Given the description of an element on the screen output the (x, y) to click on. 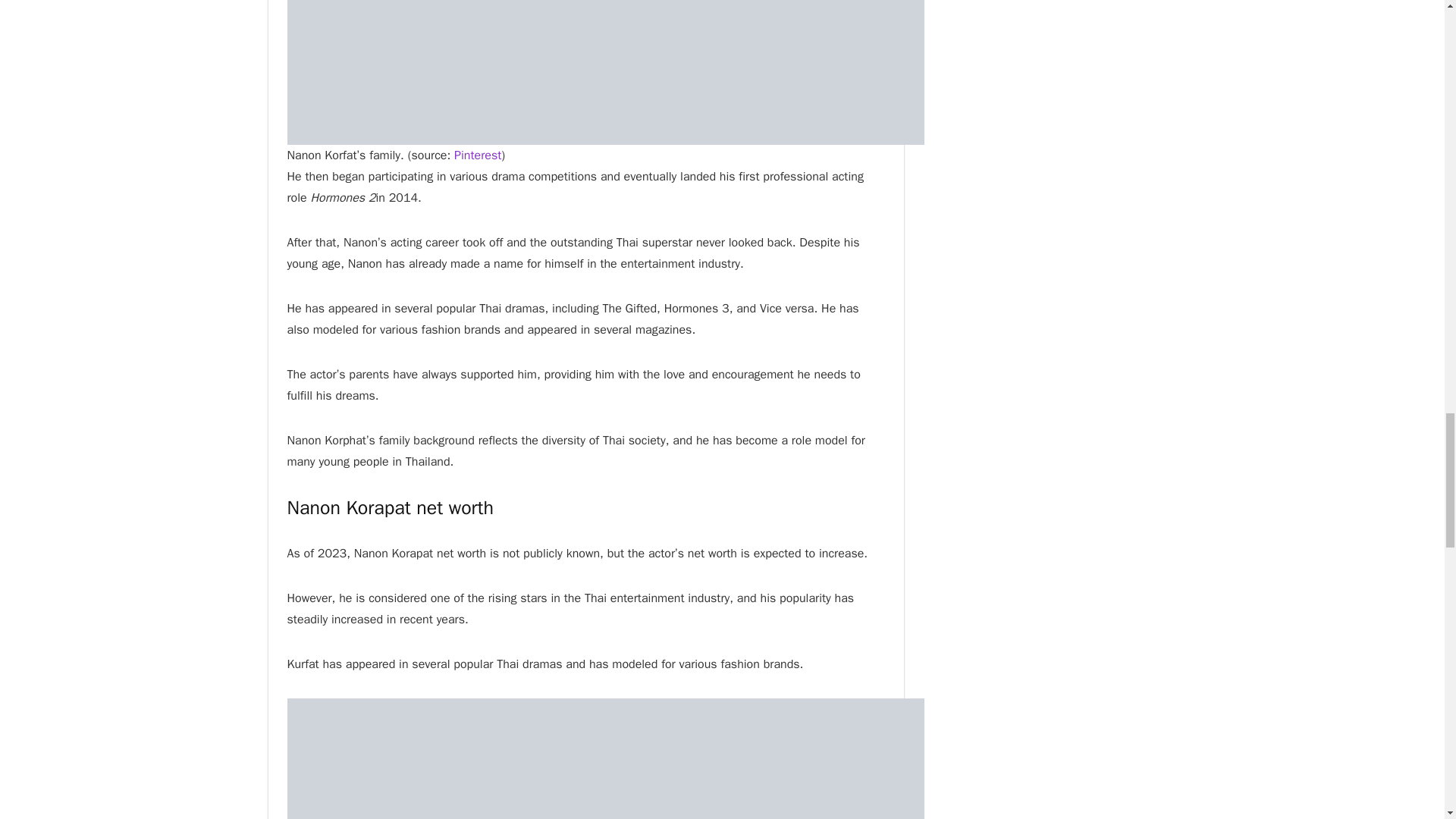
Pinterest (477, 155)
